Given the description of an element on the screen output the (x, y) to click on. 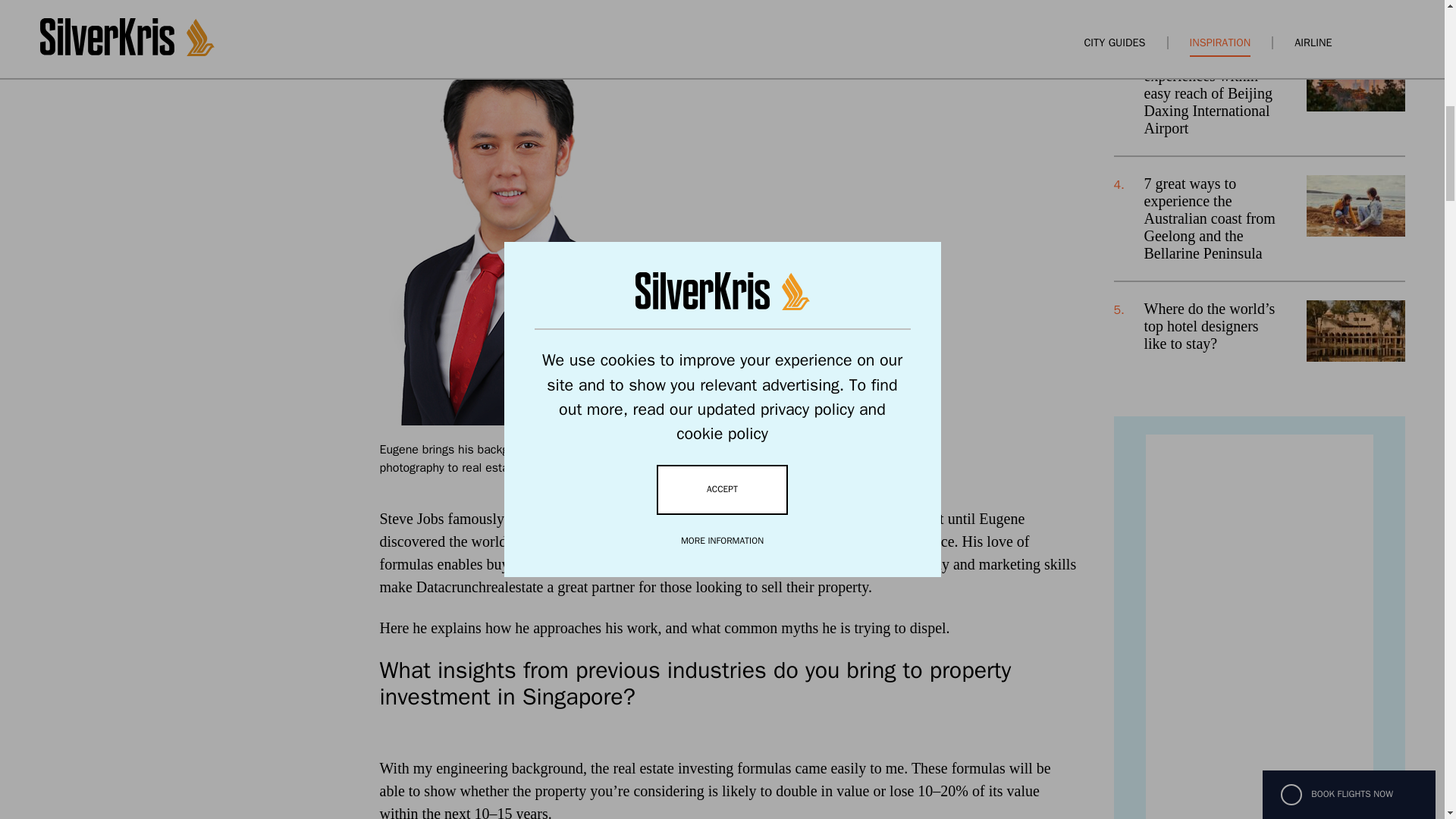
Discover 8 hidden gems loved by Seattle locals (1198, 1)
